Given the description of an element on the screen output the (x, y) to click on. 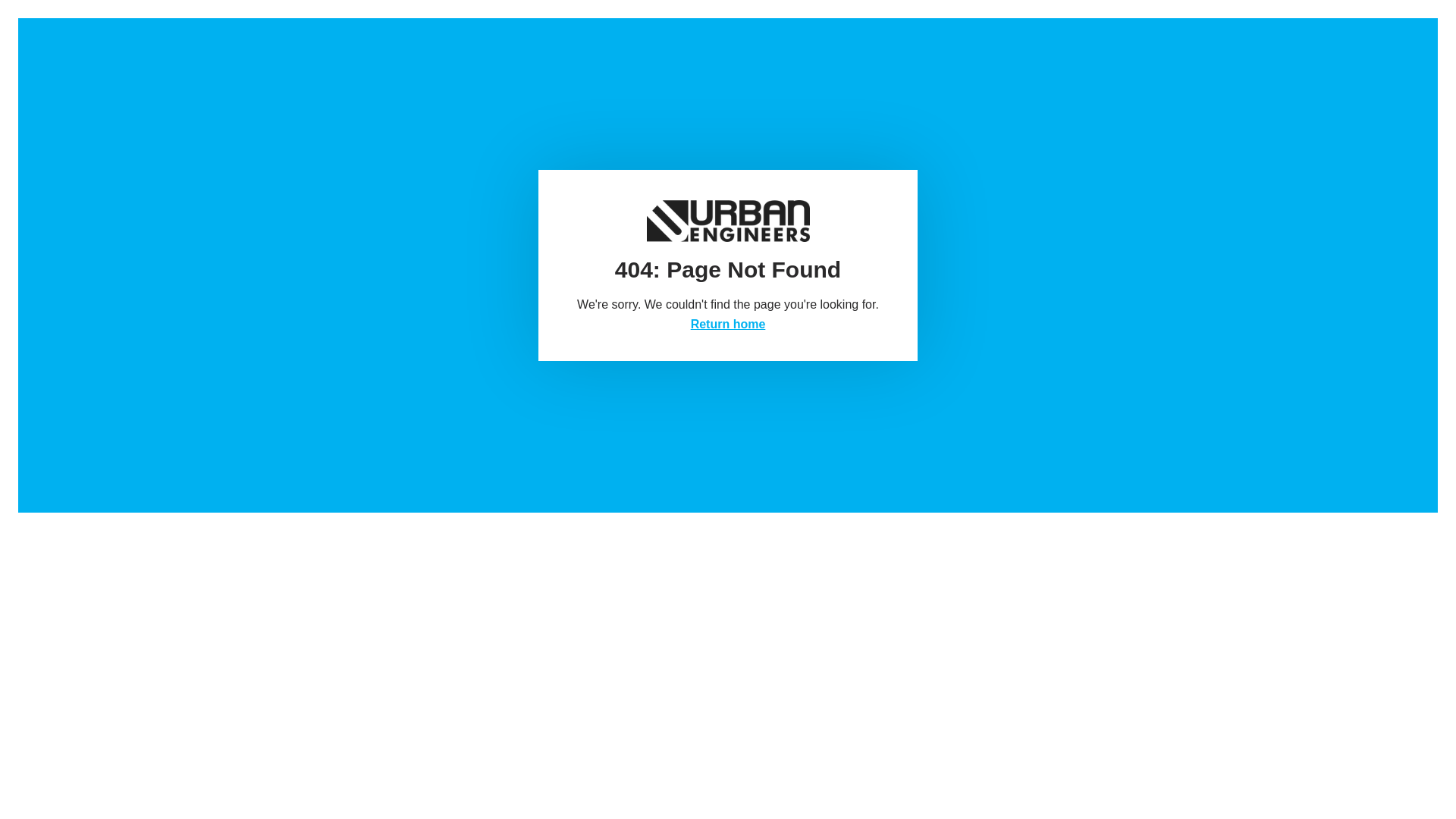
Return home (727, 323)
